Given the description of an element on the screen output the (x, y) to click on. 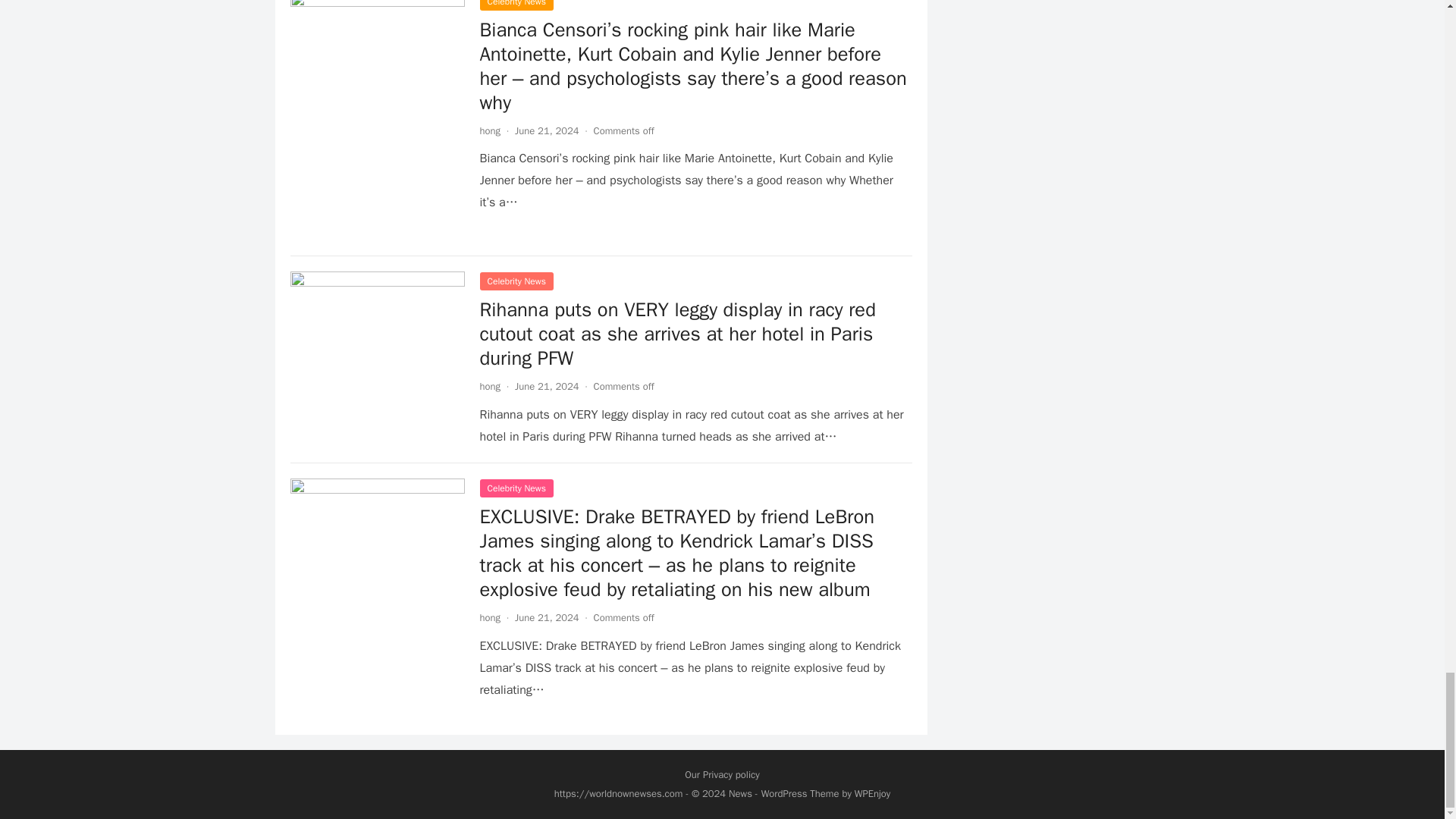
Posts by hong (489, 130)
Posts by hong (489, 617)
Posts by hong (489, 386)
